Given the description of an element on the screen output the (x, y) to click on. 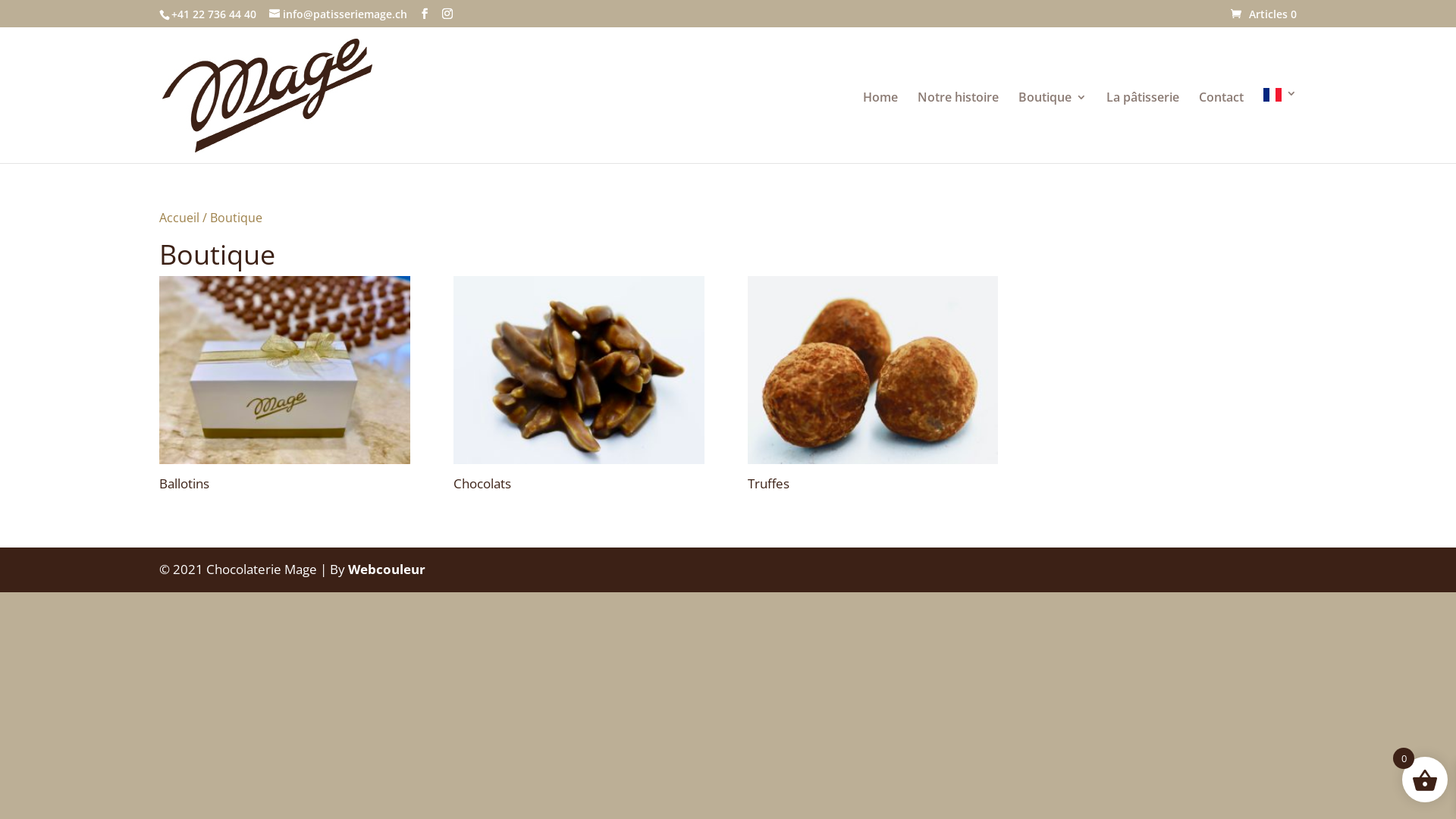
Truffes Element type: text (872, 386)
info@patisseriemage.ch Element type: text (338, 13)
Notre histoire Element type: text (957, 127)
Ballotins Element type: text (284, 386)
Webcouleur Element type: text (386, 568)
Accueil Element type: text (179, 217)
Boutique Element type: text (1052, 127)
French Element type: hover (1279, 125)
Home Element type: text (879, 127)
Contact Element type: text (1220, 127)
Chocolats Element type: text (578, 386)
Articles 0 Element type: text (1263, 13)
